Given the description of an element on the screen output the (x, y) to click on. 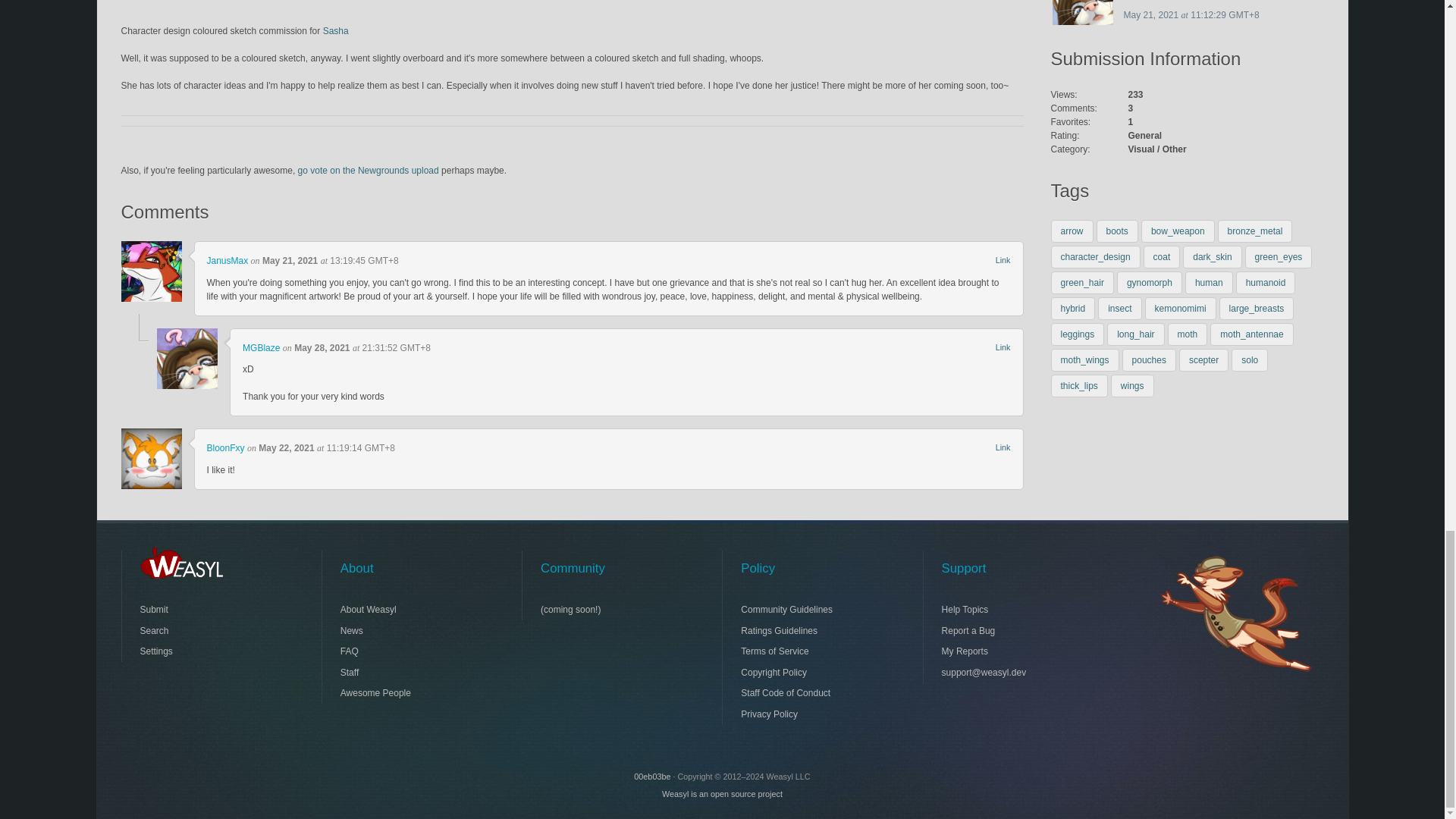
humanoid (1265, 282)
boots (1117, 231)
human (1209, 282)
go vote on the Newgrounds upload (368, 170)
arrow (1072, 231)
gynomorph (1149, 282)
Sasha (336, 30)
coat (1161, 256)
